Given the description of an element on the screen output the (x, y) to click on. 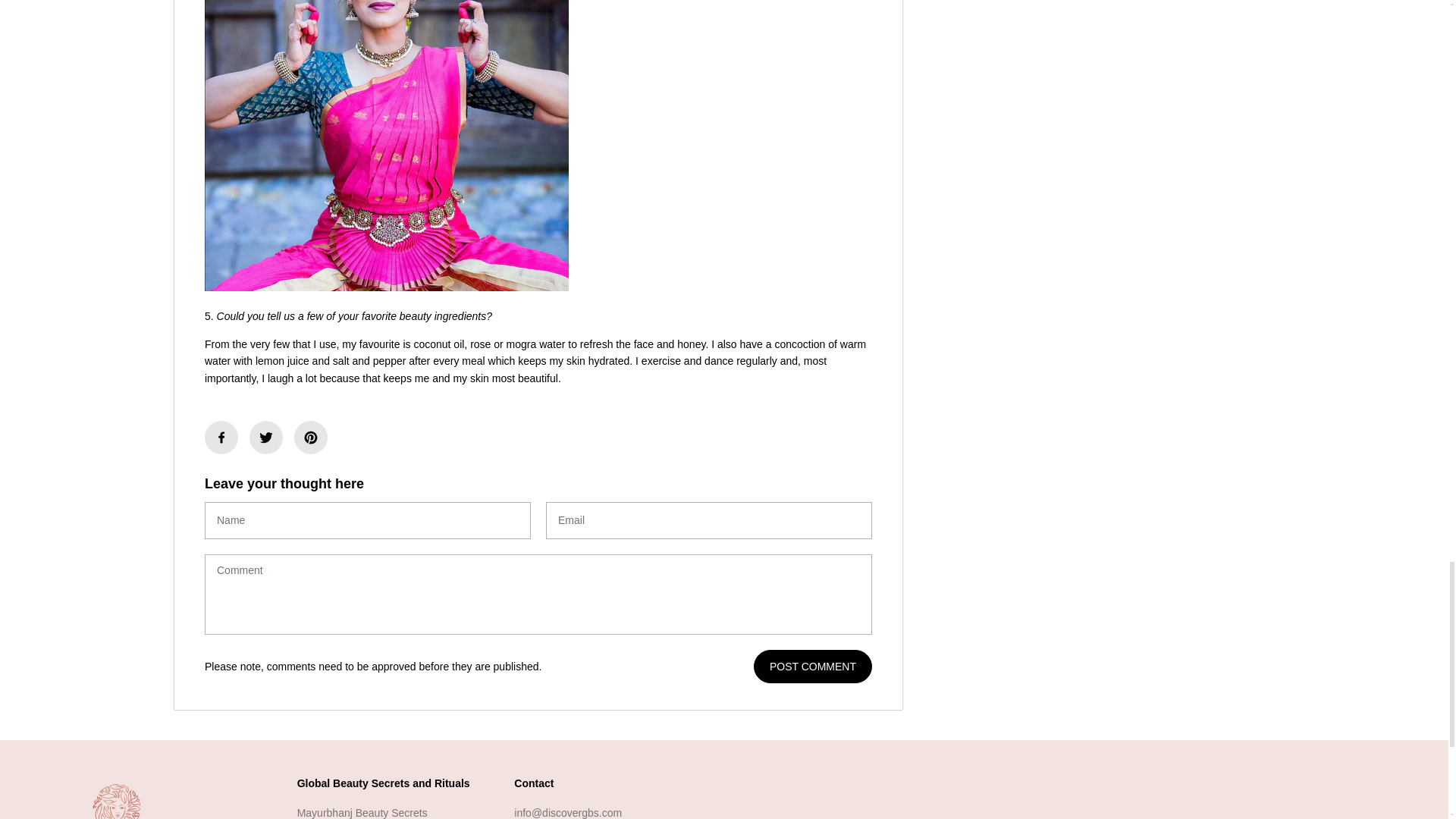
Facebook (221, 437)
Twitter (265, 437)
Pinterest (310, 437)
